Given the description of an element on the screen output the (x, y) to click on. 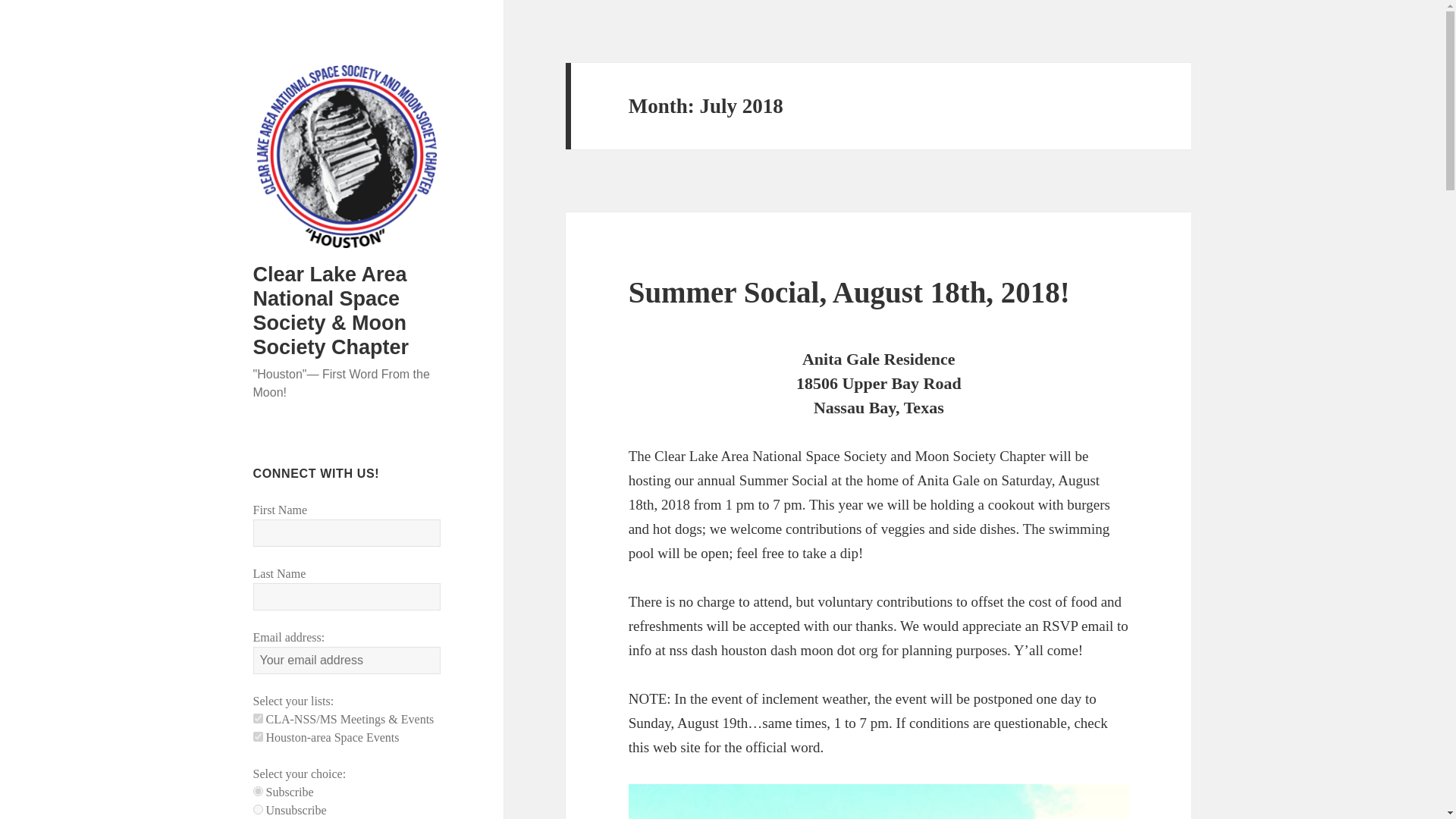
unsubscribe (258, 809)
subscribe (258, 791)
ac4be0c91d (258, 737)
2fe40782d0 (258, 718)
